Given the description of an element on the screen output the (x, y) to click on. 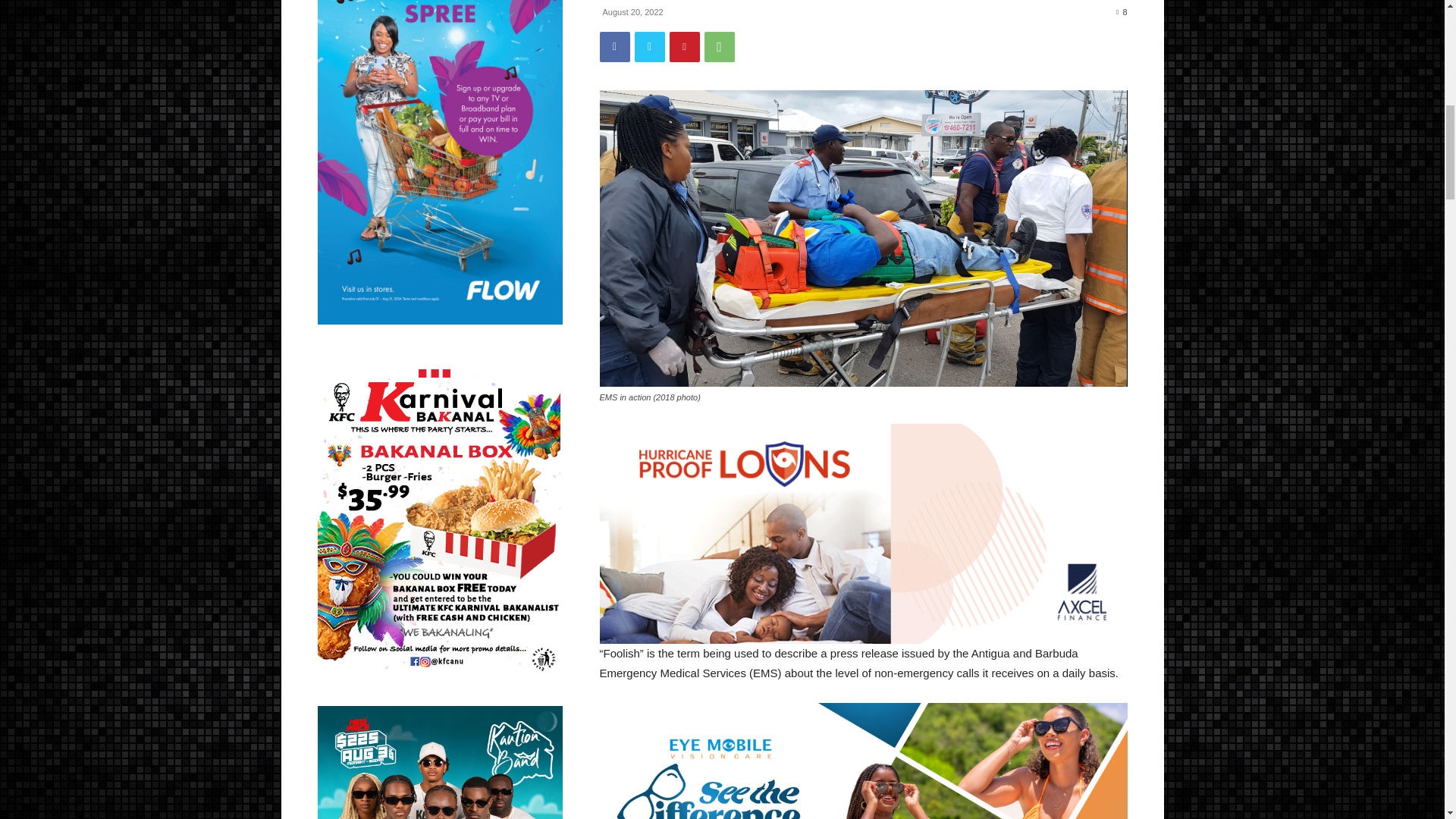
WhatsApp (718, 46)
Twitter (648, 46)
Pinterest (683, 46)
Facebook (613, 46)
